Given the description of an element on the screen output the (x, y) to click on. 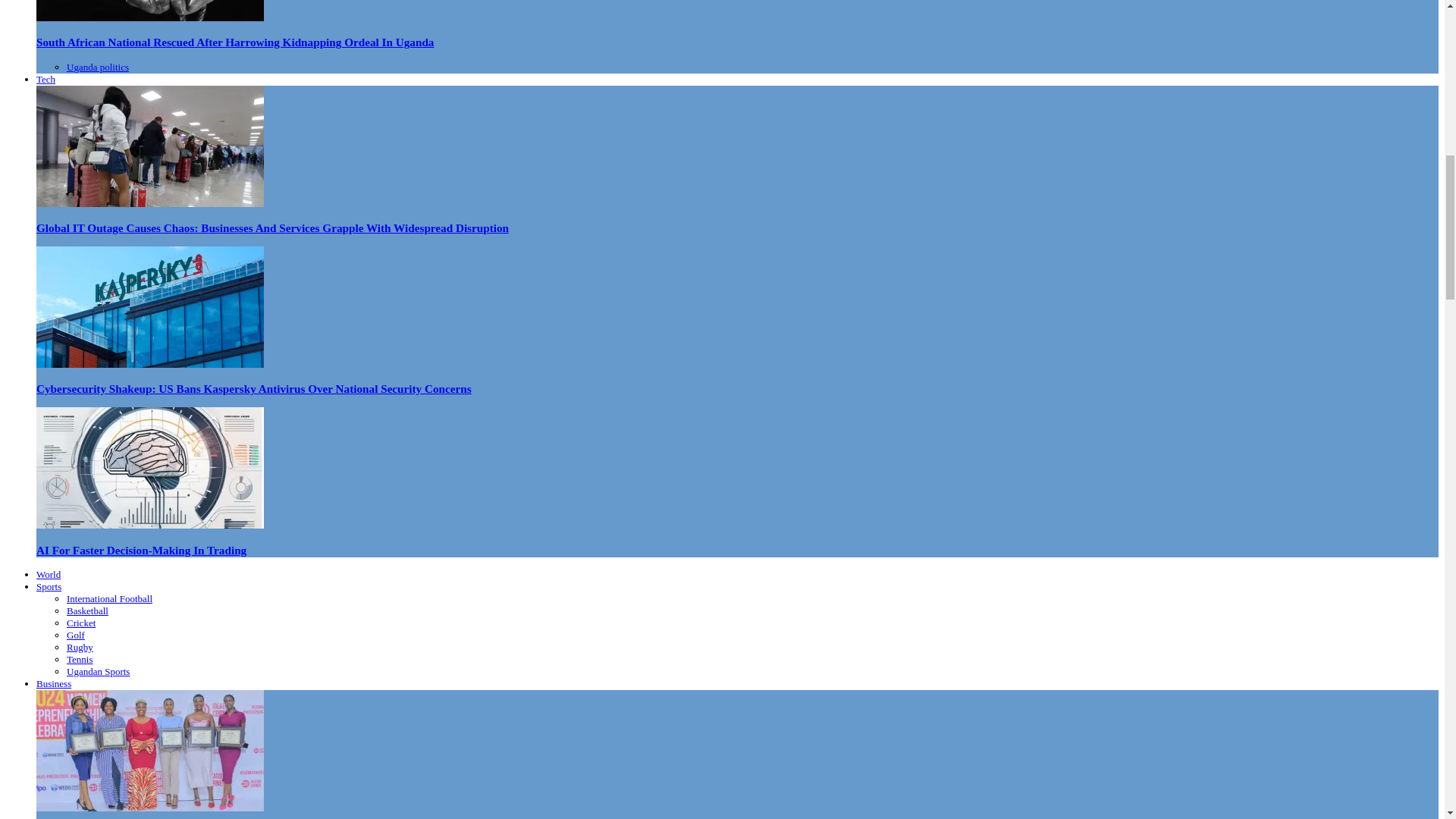
Uganda politics (97, 66)
Tech (45, 79)
